Given the description of an element on the screen output the (x, y) to click on. 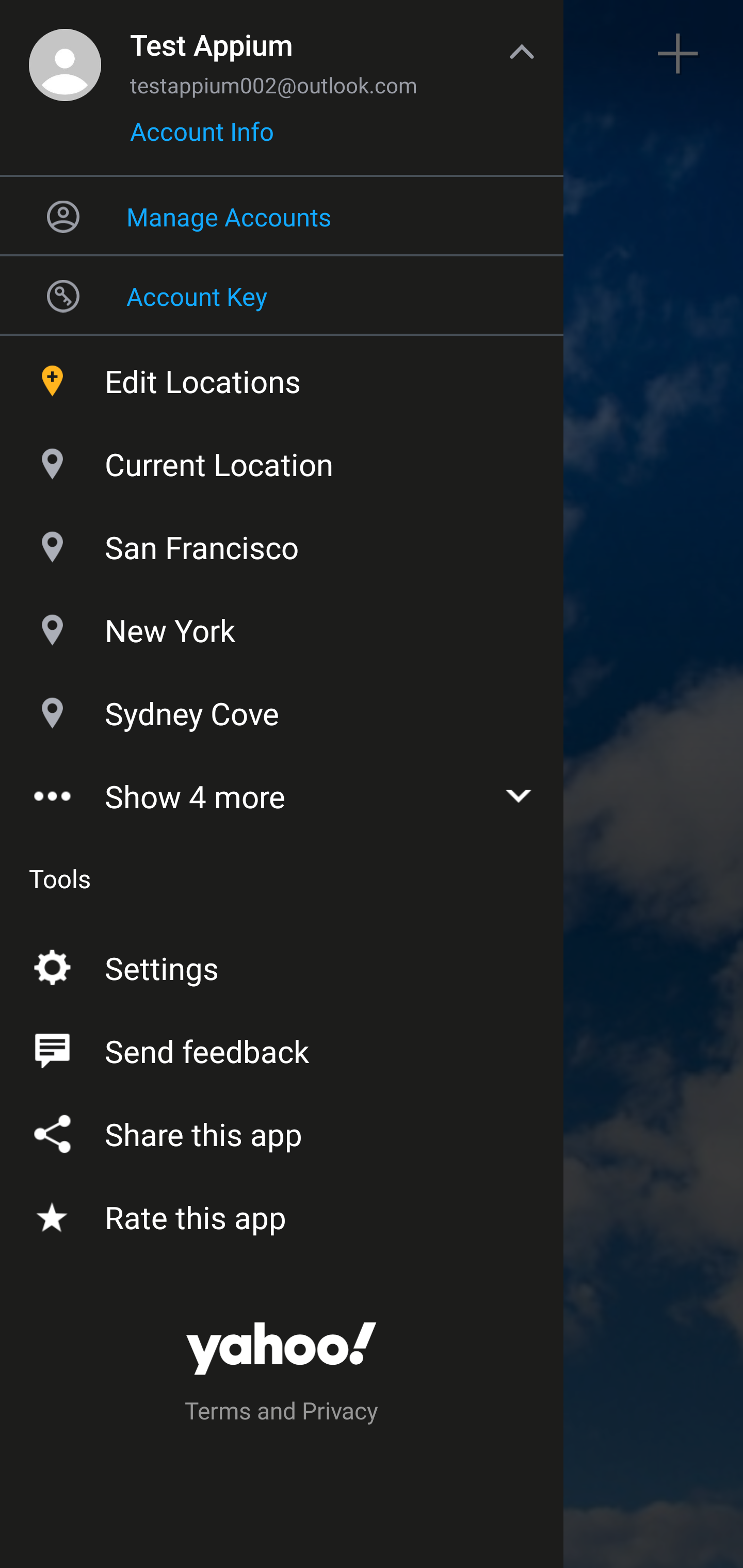
Sidebar (64, 54)
Account Info (202, 137)
Manage Accounts (281, 216)
Account Key (281, 295)
Edit Locations (281, 376)
Current Location (281, 459)
San Francisco (281, 542)
New York (281, 625)
Sydney Cove (281, 709)
Settings (281, 963)
Send feedback (281, 1046)
Share this app (281, 1129)
Terms and Privacy Terms and privacy button (281, 1413)
